Given the description of an element on the screen output the (x, y) to click on. 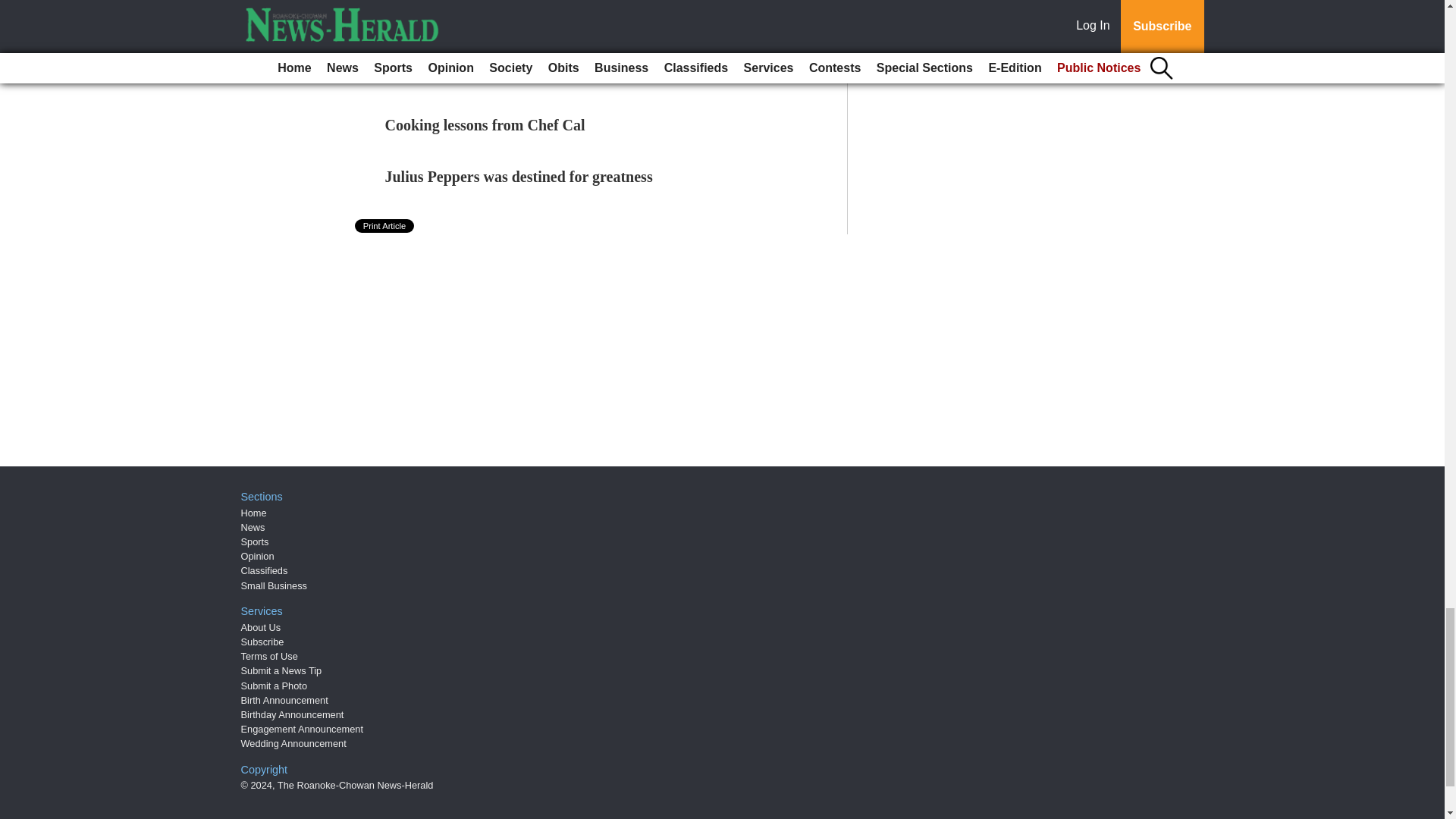
Julius Peppers was destined for greatness (518, 176)
Cooking lessons from Chef Cal (485, 125)
Cooking lessons from Chef Cal (485, 125)
